Given the description of an element on the screen output the (x, y) to click on. 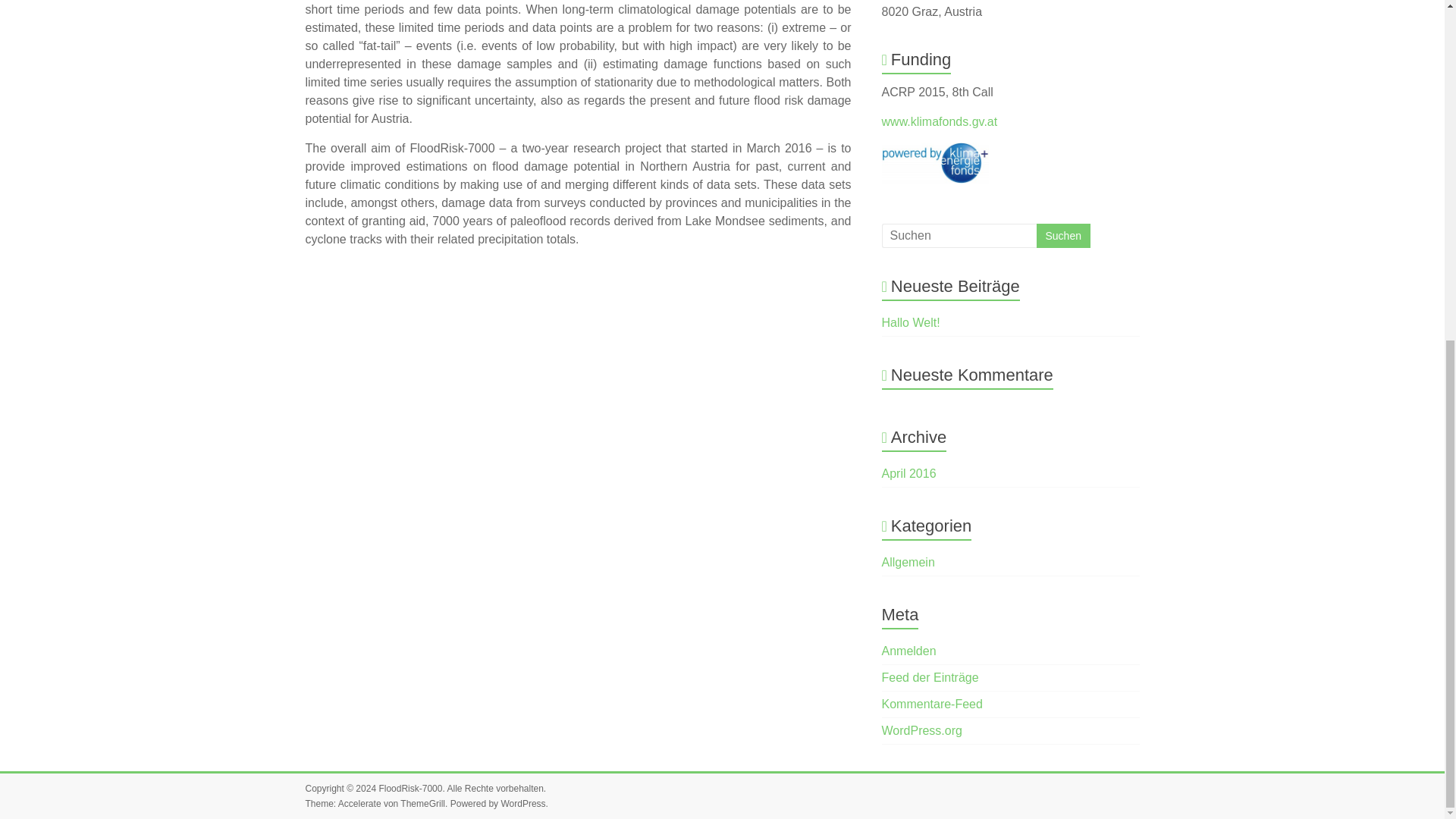
Suchen (1062, 235)
Hallo Welt! (911, 322)
Kommentare-Feed (932, 703)
WordPress (522, 803)
WordPress (522, 803)
Anmelden (909, 650)
WordPress.org (922, 730)
Allgemein (908, 562)
Accelerate (359, 803)
FloodRisk-7000 (410, 787)
Suchen (1062, 235)
Accelerate (359, 803)
FloodRisk-7000 (410, 787)
April 2016 (909, 472)
www.klimafonds.gv.at (939, 121)
